Given the description of an element on the screen output the (x, y) to click on. 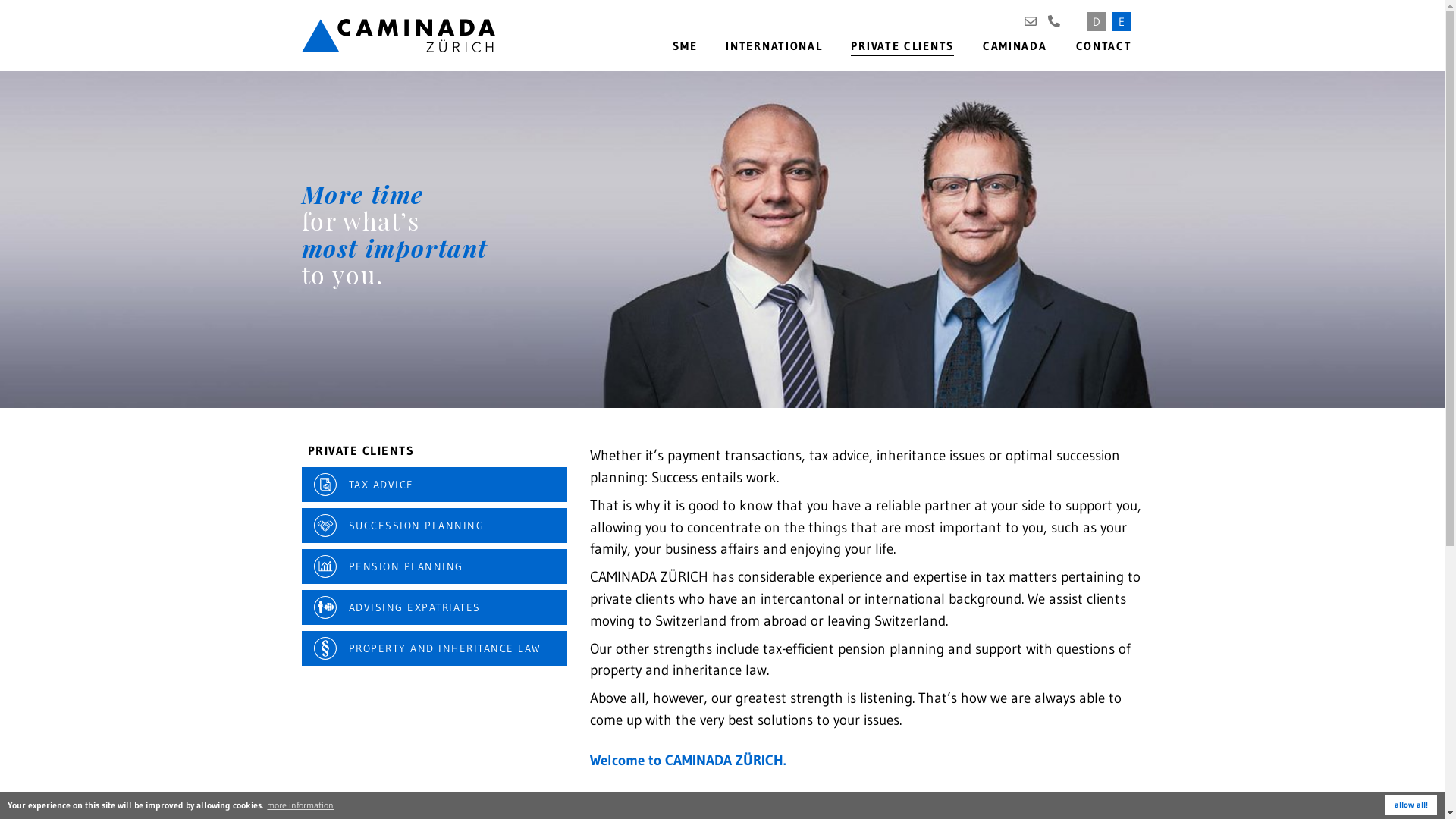
SUCCESSION PLANNING Element type: text (434, 525)
TAX ADVICE Element type: text (434, 484)
CONTACT Element type: text (1103, 46)
Pension planning Element type: hover (324, 566)
allow all! Element type: text (1411, 805)
PENSION PLANNING Element type: text (434, 566)
CAMINADA Element type: text (1014, 46)
more information Element type: text (300, 805)
PRIVATE CLIENTS Element type: text (902, 46)
ADVISING EXPATRIATES Element type: text (434, 606)
INTERNATIONAL Element type: text (773, 46)
Succession planning Element type: hover (324, 525)
SME Element type: text (684, 46)
PRIVATE CLIENTS Element type: text (360, 452)
Tax advice Element type: hover (324, 484)
PROPERTY AND INHERITANCE LAW Element type: text (434, 647)
D Element type: text (1096, 21)
E Element type: text (1120, 21)
[Translate to Englisch:] Privatkunden Element type: hover (722, 238)
Advising expatriates Element type: hover (324, 607)
Property and inheritance law Element type: hover (324, 648)
